Given the description of an element on the screen output the (x, y) to click on. 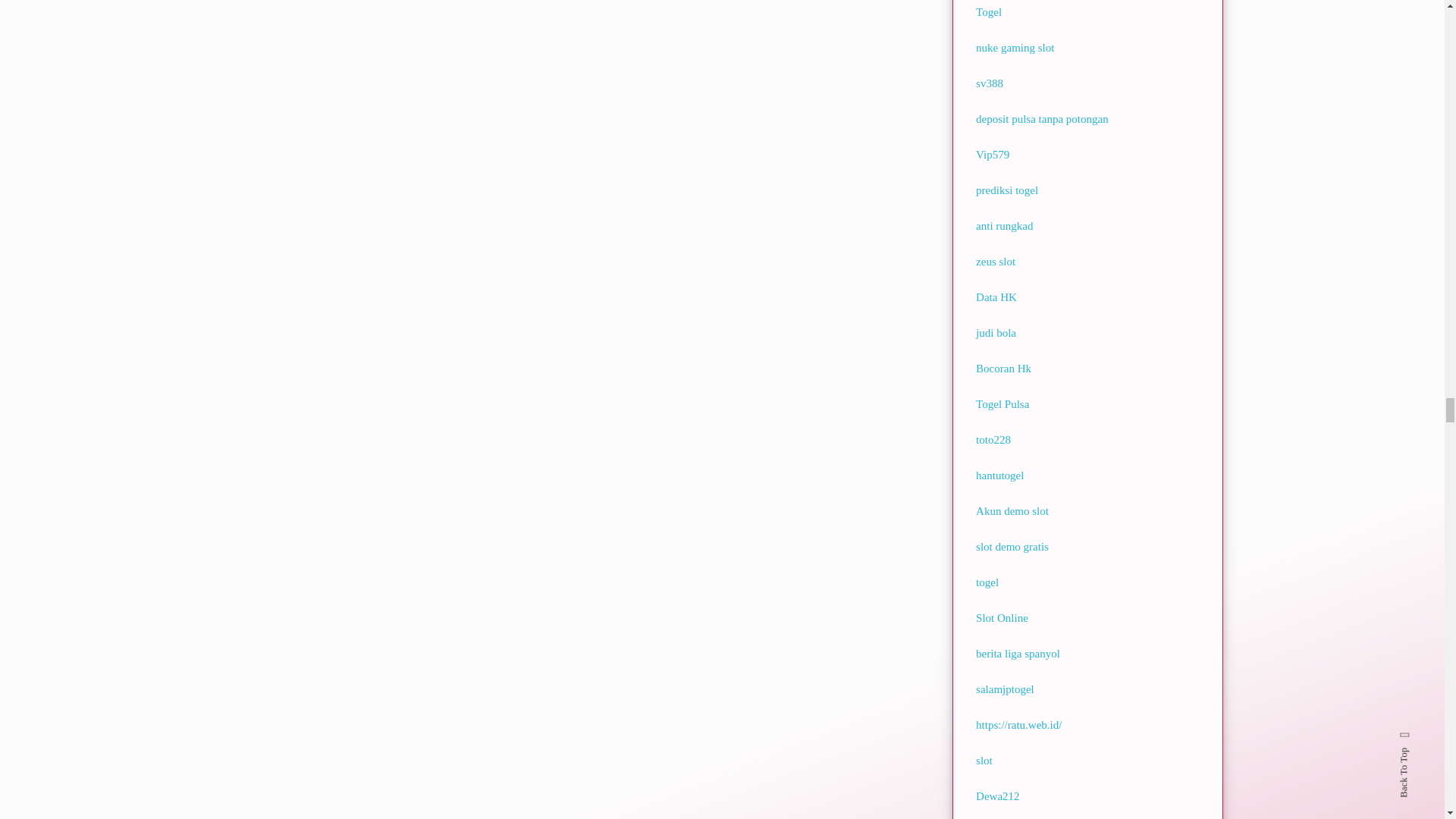
berita liga spanyol (1017, 653)
